Given the description of an element on the screen output the (x, y) to click on. 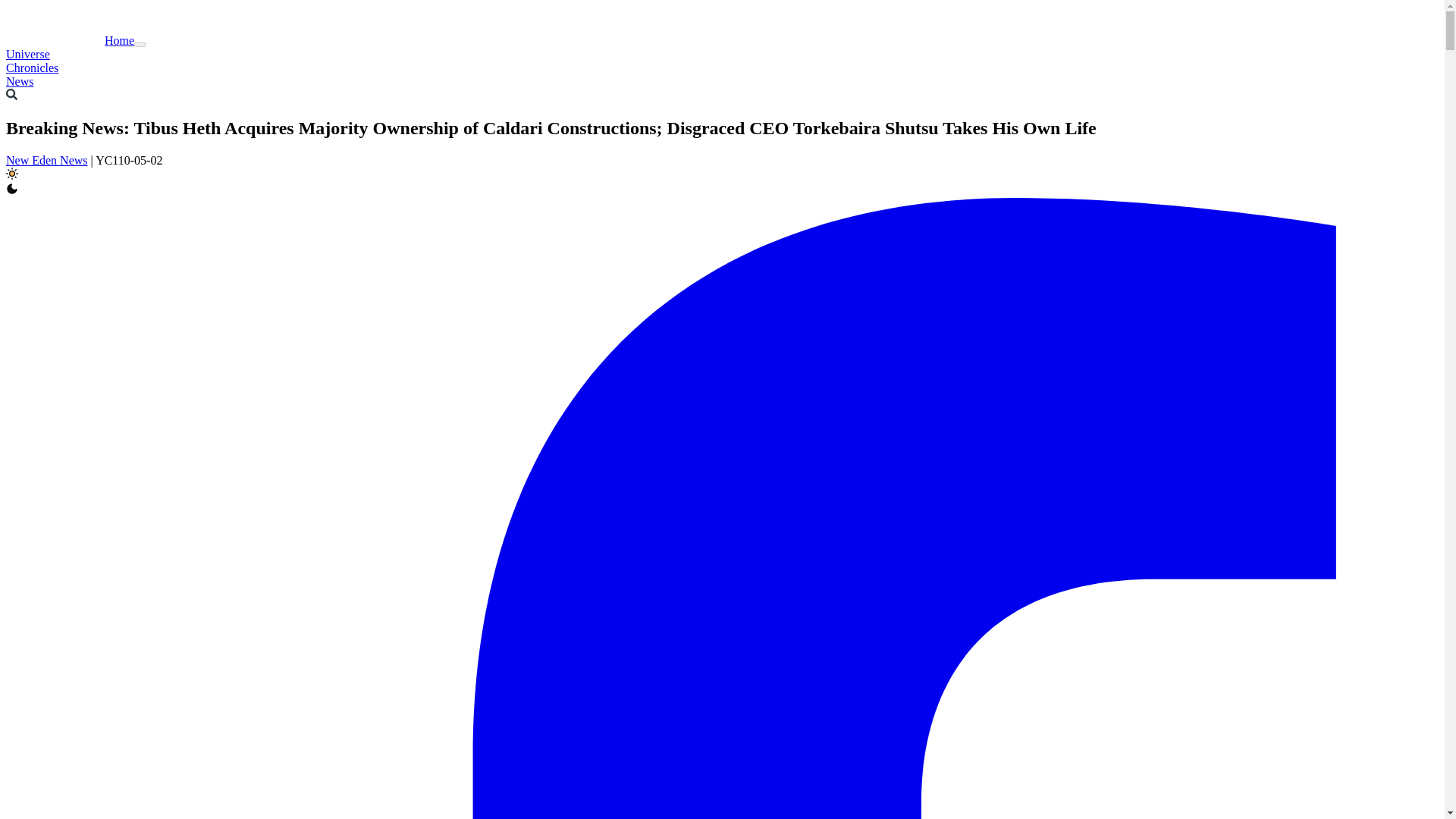
Universe (27, 53)
New Eden News (46, 160)
News (19, 81)
Chronicles (31, 67)
Home (69, 40)
